Given the description of an element on the screen output the (x, y) to click on. 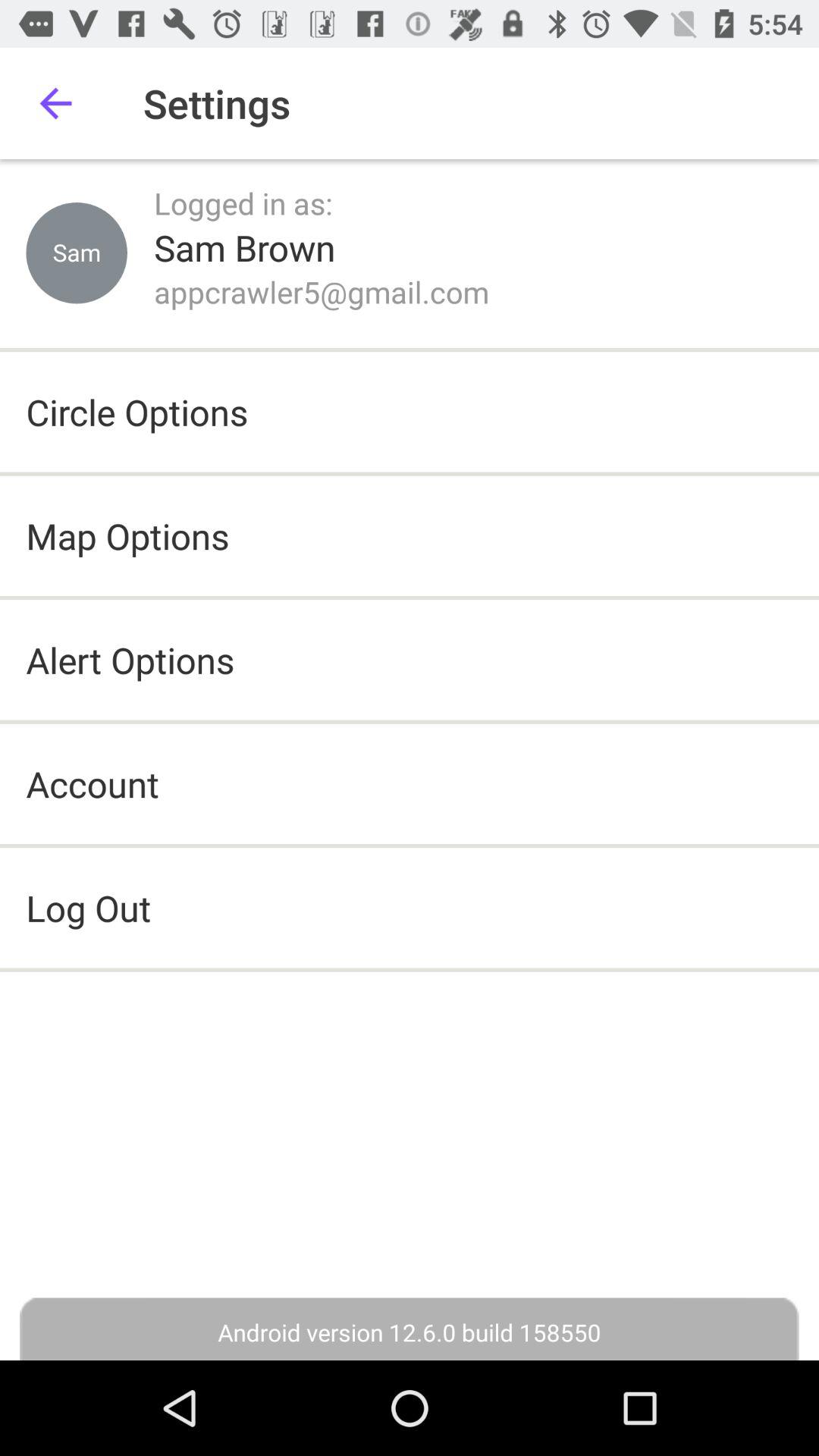
swipe until the map options icon (127, 535)
